Given the description of an element on the screen output the (x, y) to click on. 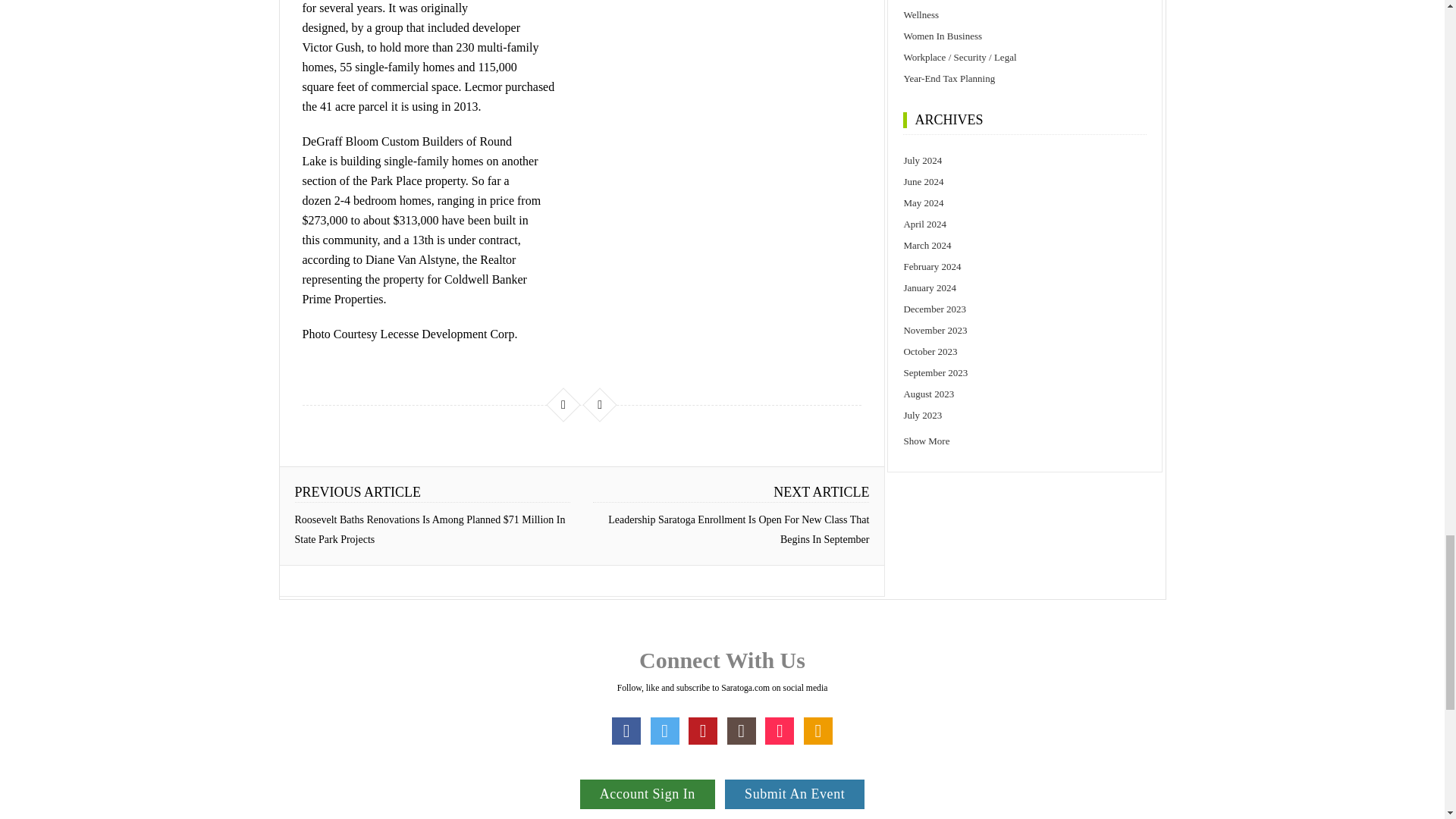
Pinterest (702, 731)
X (664, 731)
TikTok (779, 731)
My Planner (817, 731)
Facebook (625, 731)
Instagram (740, 731)
